Given the description of an element on the screen output the (x, y) to click on. 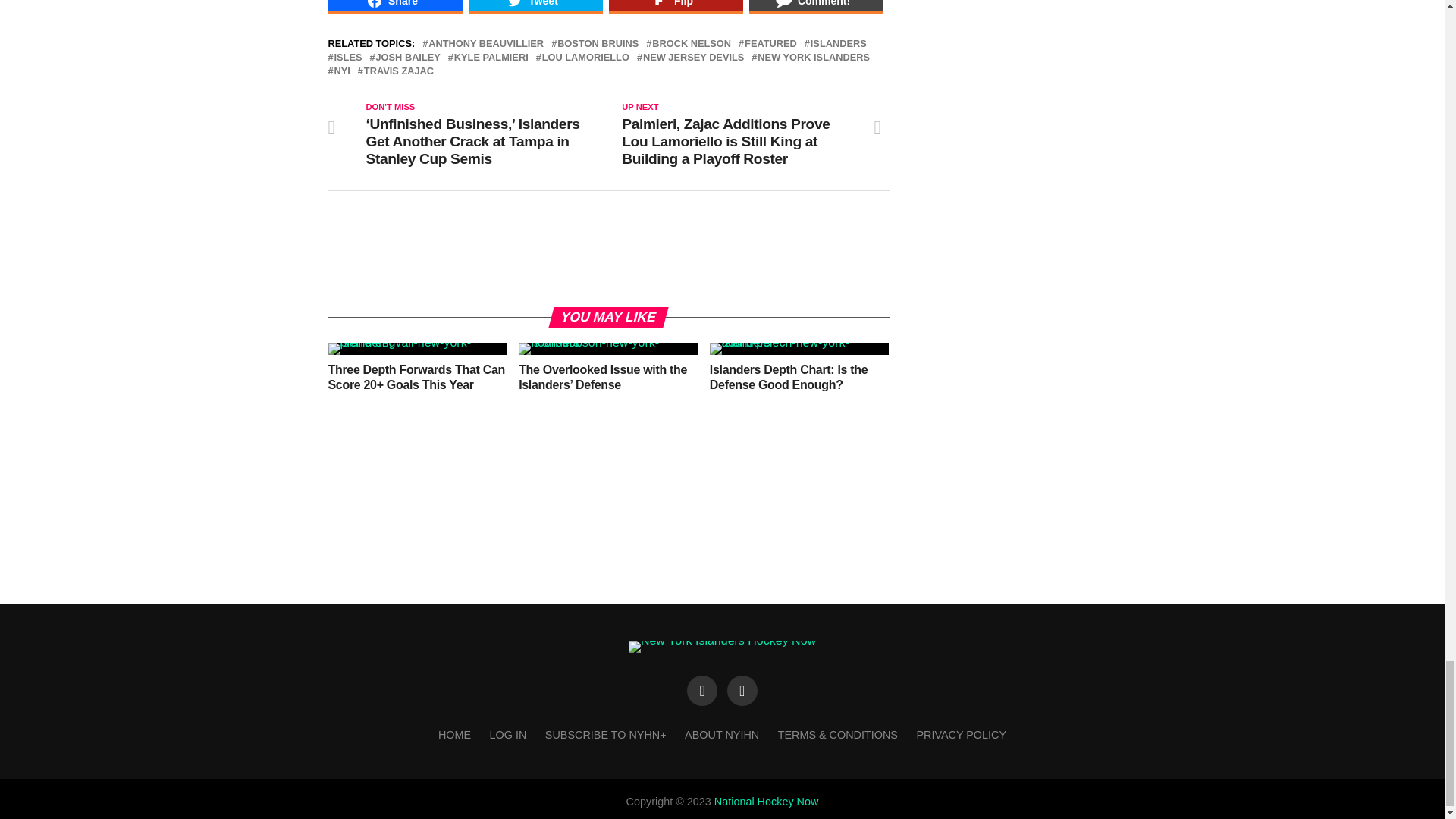
Share on Share (394, 7)
Share on Comment! (816, 7)
Share on Flip (675, 7)
Share on Tweet (535, 7)
